Given the description of an element on the screen output the (x, y) to click on. 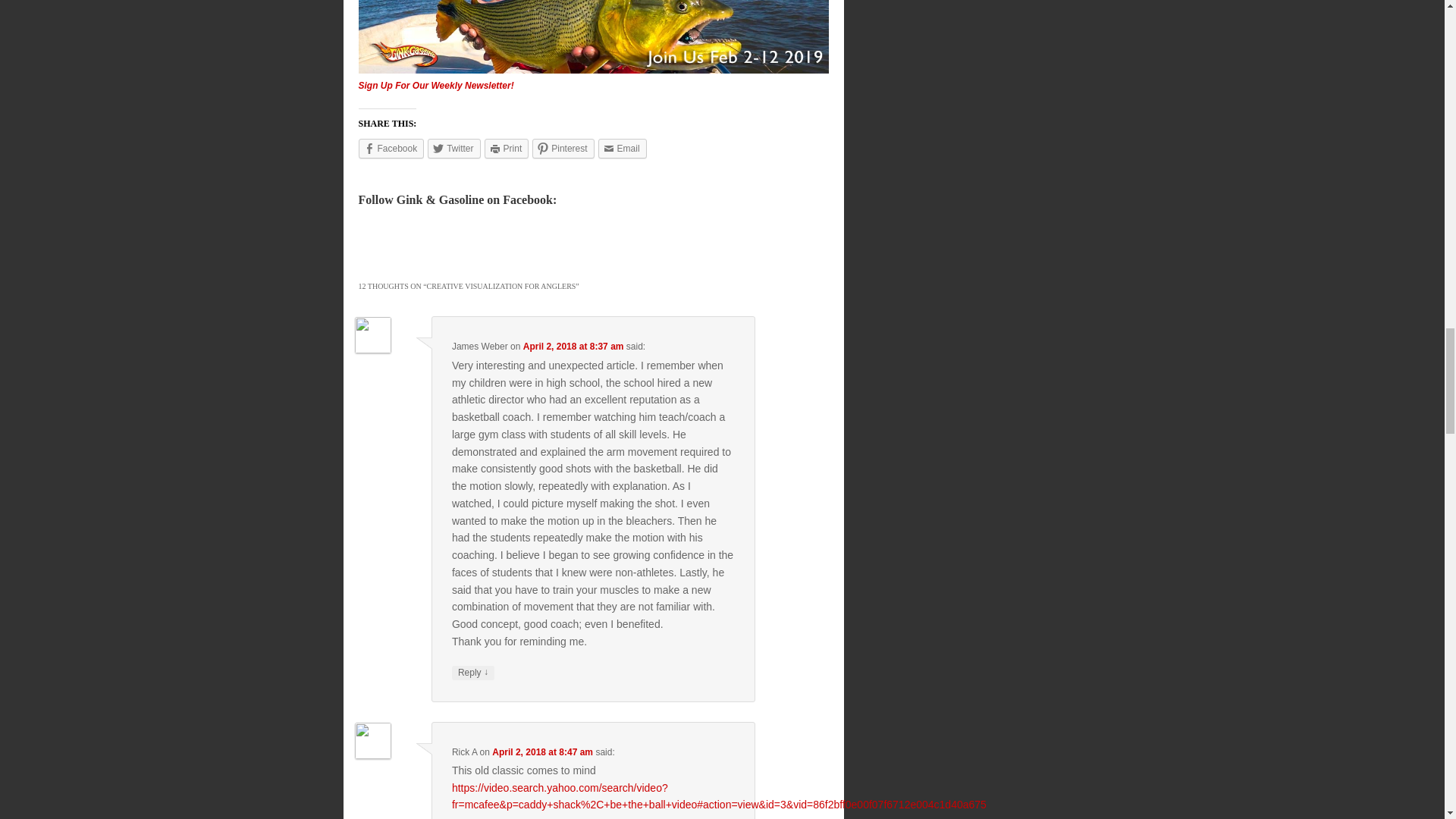
Click to print (506, 148)
Facebook (390, 148)
Click to email this to a friend (622, 148)
Email (622, 148)
Sign Up For Our Weekly Newsletter! (435, 85)
Share on Facebook (390, 148)
Click to share on Pinterest (563, 148)
Twitter (454, 148)
Click to share on Twitter (454, 148)
Pinterest (563, 148)
Print (506, 148)
April 2, 2018 at 8:37 am (573, 346)
April 2, 2018 at 8:47 am (542, 751)
